Given the description of an element on the screen output the (x, y) to click on. 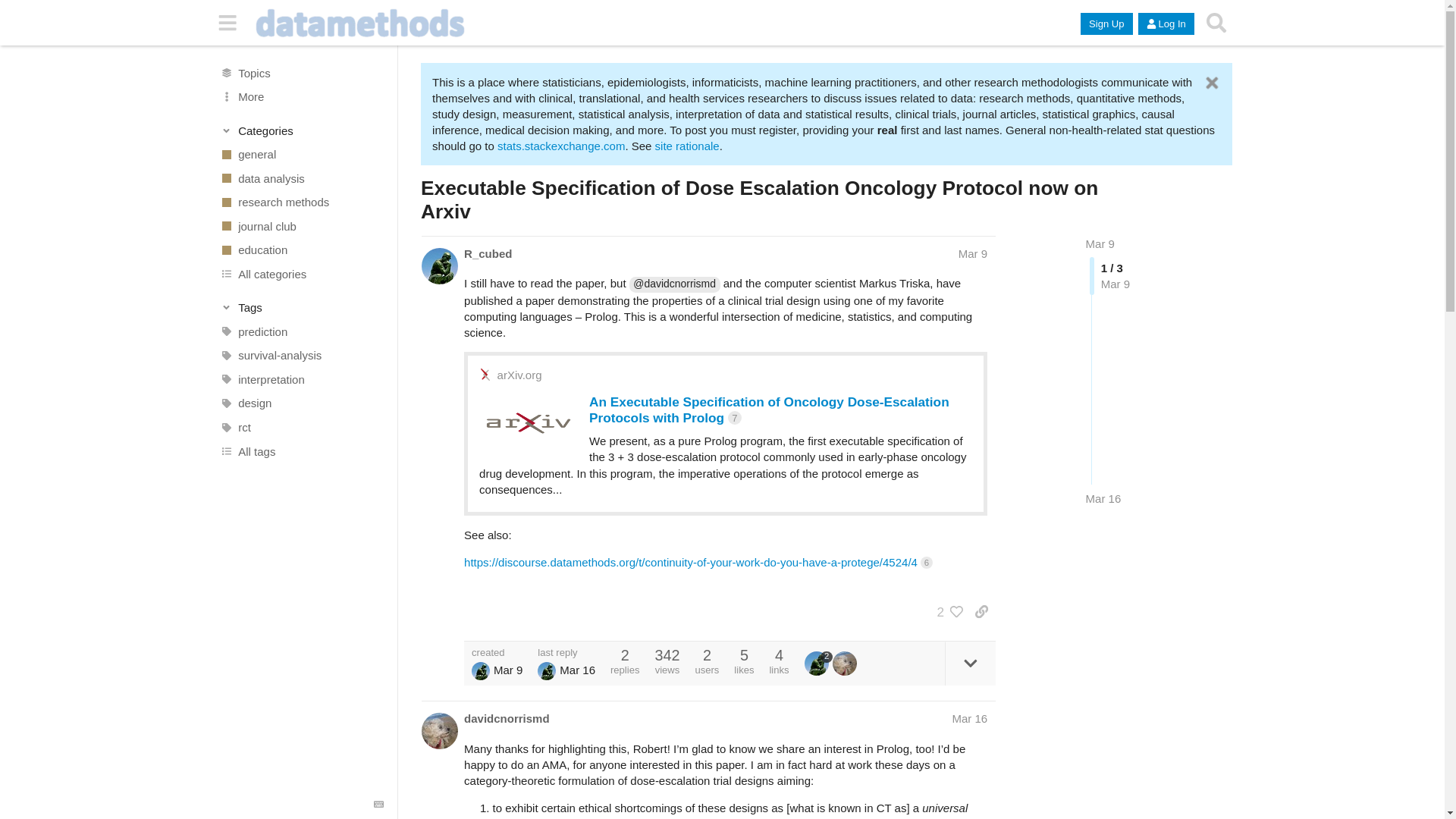
All categories (301, 274)
All tags (301, 450)
2 (946, 611)
Tags (301, 307)
Sign Up (1106, 24)
Mar 9 (1100, 243)
Mar 9 (972, 253)
arXiv.org (519, 374)
Search (1215, 22)
site rationale (687, 145)
Mar 9 (1100, 243)
Hide sidebar (227, 22)
prediction (301, 331)
Categories (301, 130)
